Given the description of an element on the screen output the (x, y) to click on. 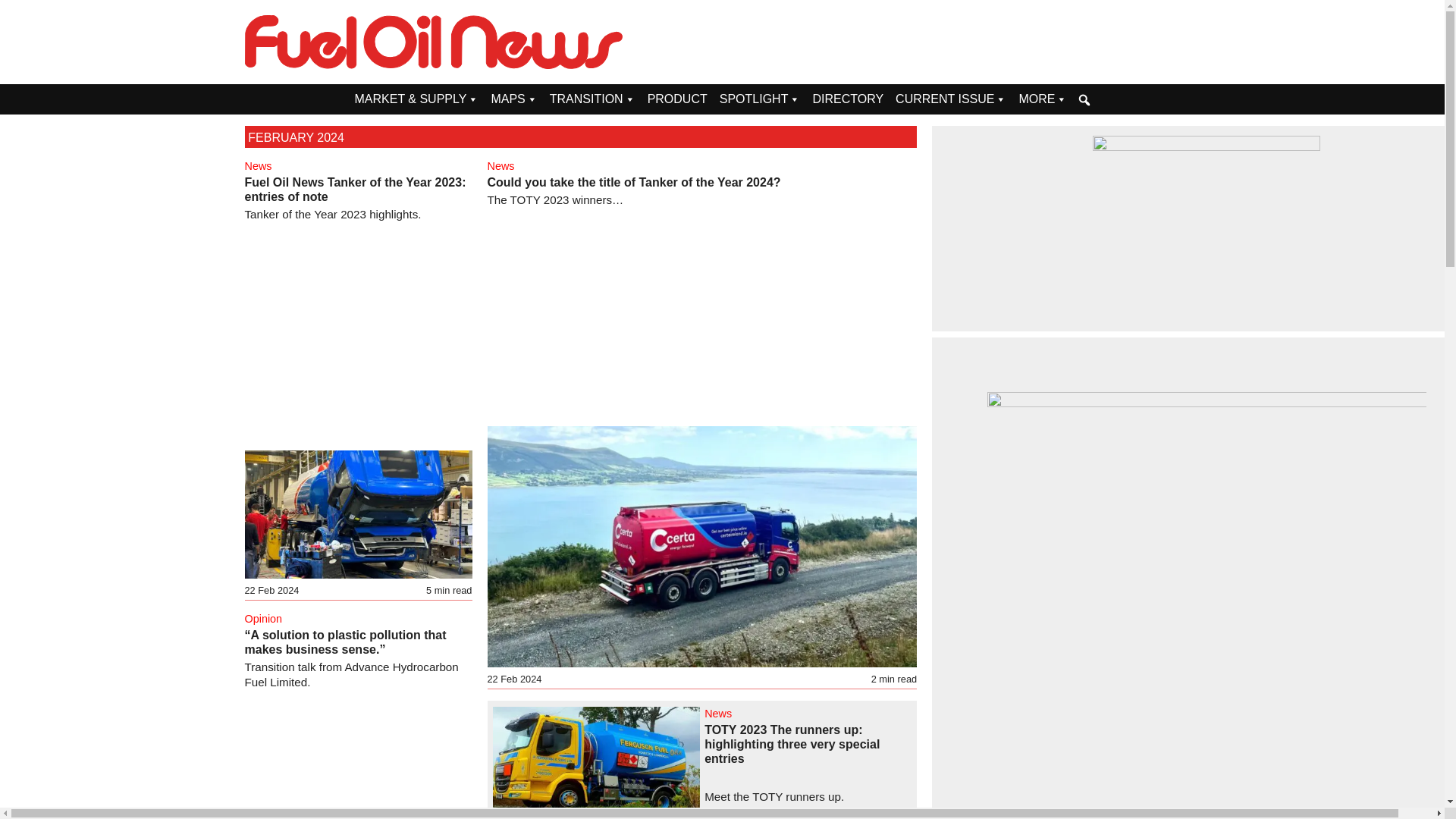
Could you take the title of Tanker of the Year 2024? (633, 182)
link to home page (433, 41)
Fuel Oil News Tanker of the Year 2023: entries of note (354, 189)
PRODUCT (677, 99)
Could you take the title of Tanker of the Year 2024? (633, 182)
Fuel Oil News Tanker of the Year 2023: entries of note (354, 189)
DIRECTORY (847, 99)
MORE (1042, 99)
TRANSITION (592, 99)
